Given the description of an element on the screen output the (x, y) to click on. 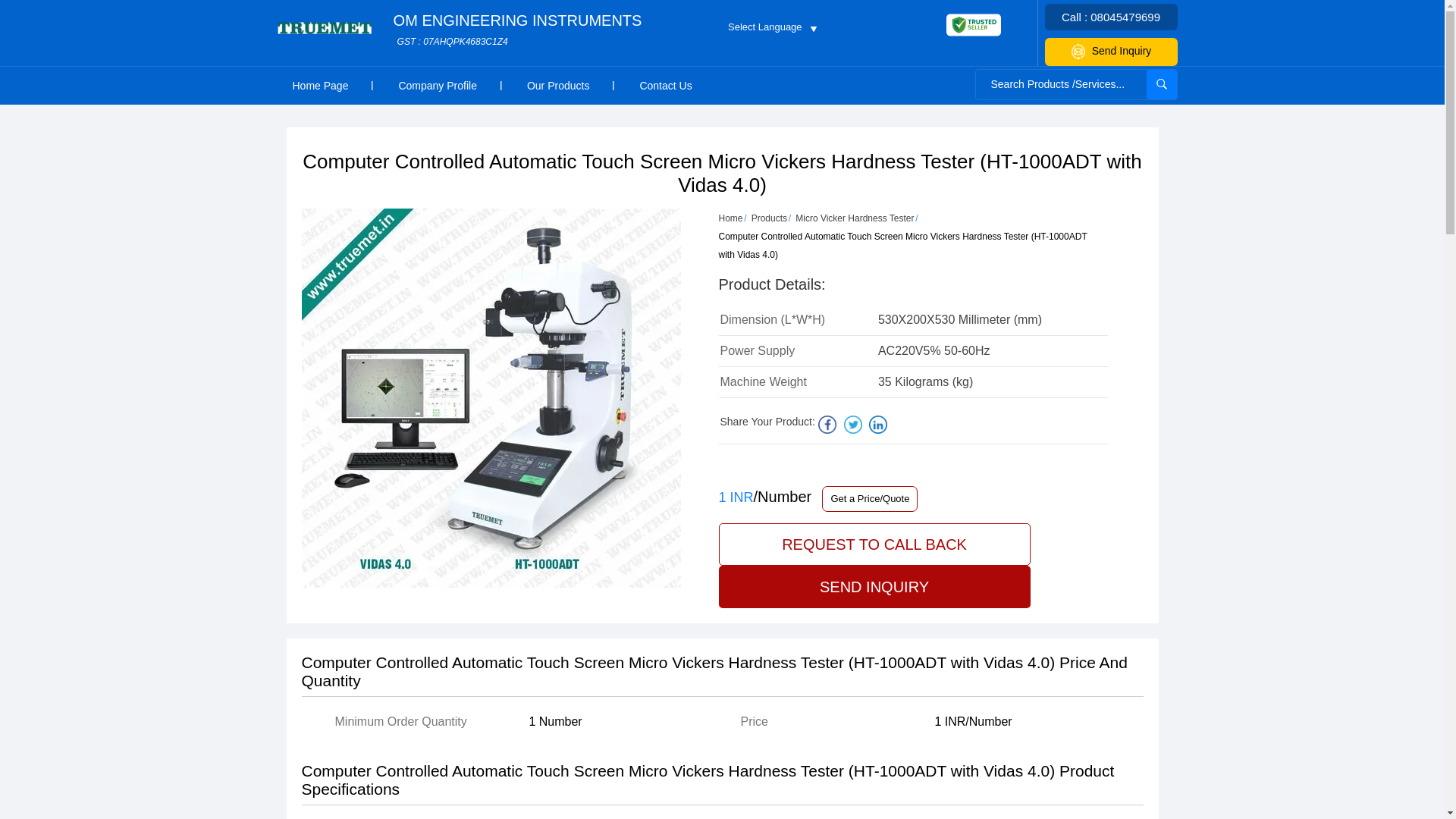
Company Profile (437, 85)
Home Page (319, 85)
Select Language (517, 29)
Send Inquiry (770, 26)
submit (1111, 51)
Our Products (1161, 84)
